Given the description of an element on the screen output the (x, y) to click on. 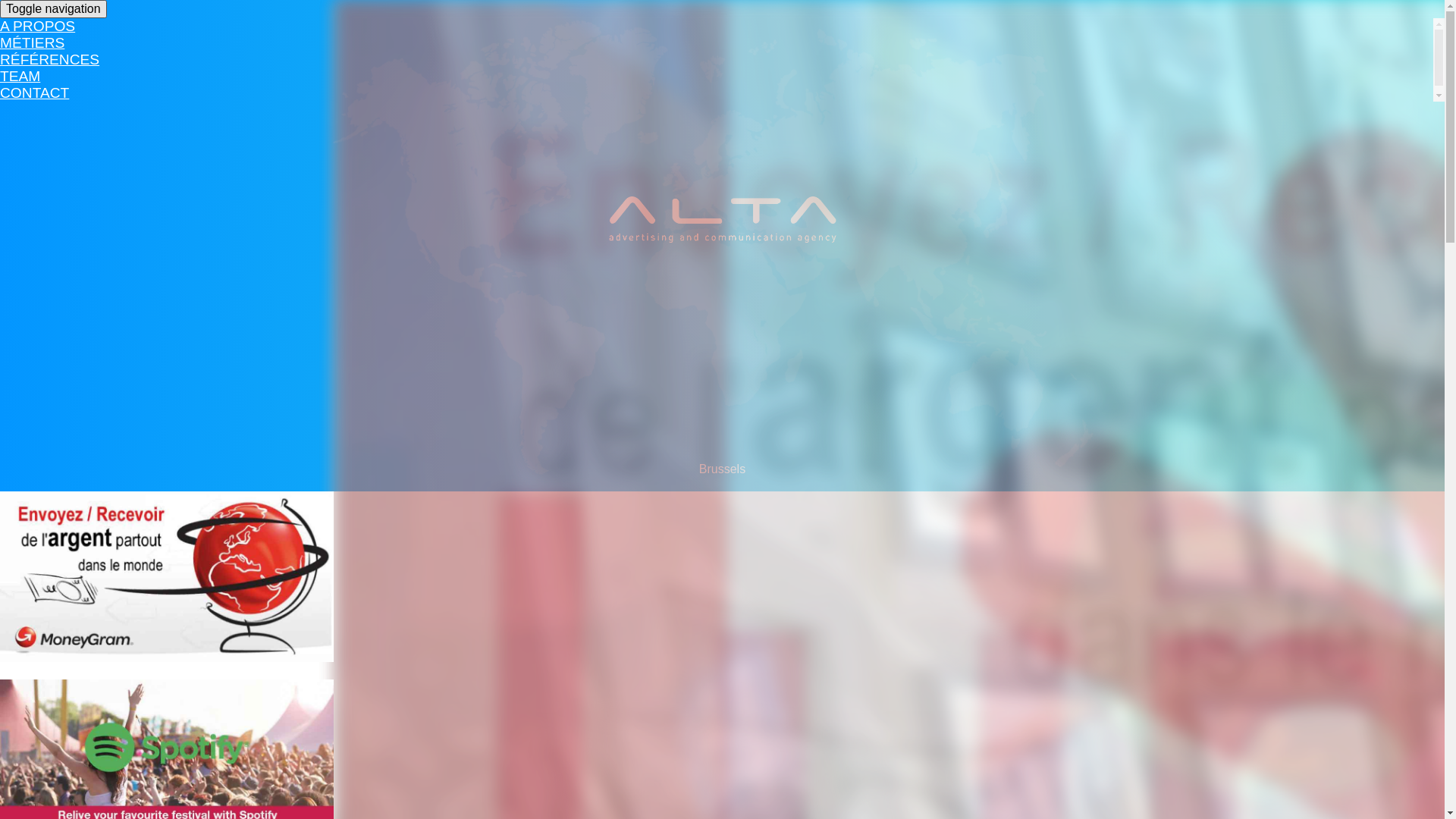
CONTACT Element type: text (34, 96)
Toggle navigation Element type: text (53, 9)
A PROPOS Element type: text (37, 29)
TEAM Element type: text (20, 79)
